Given the description of an element on the screen output the (x, y) to click on. 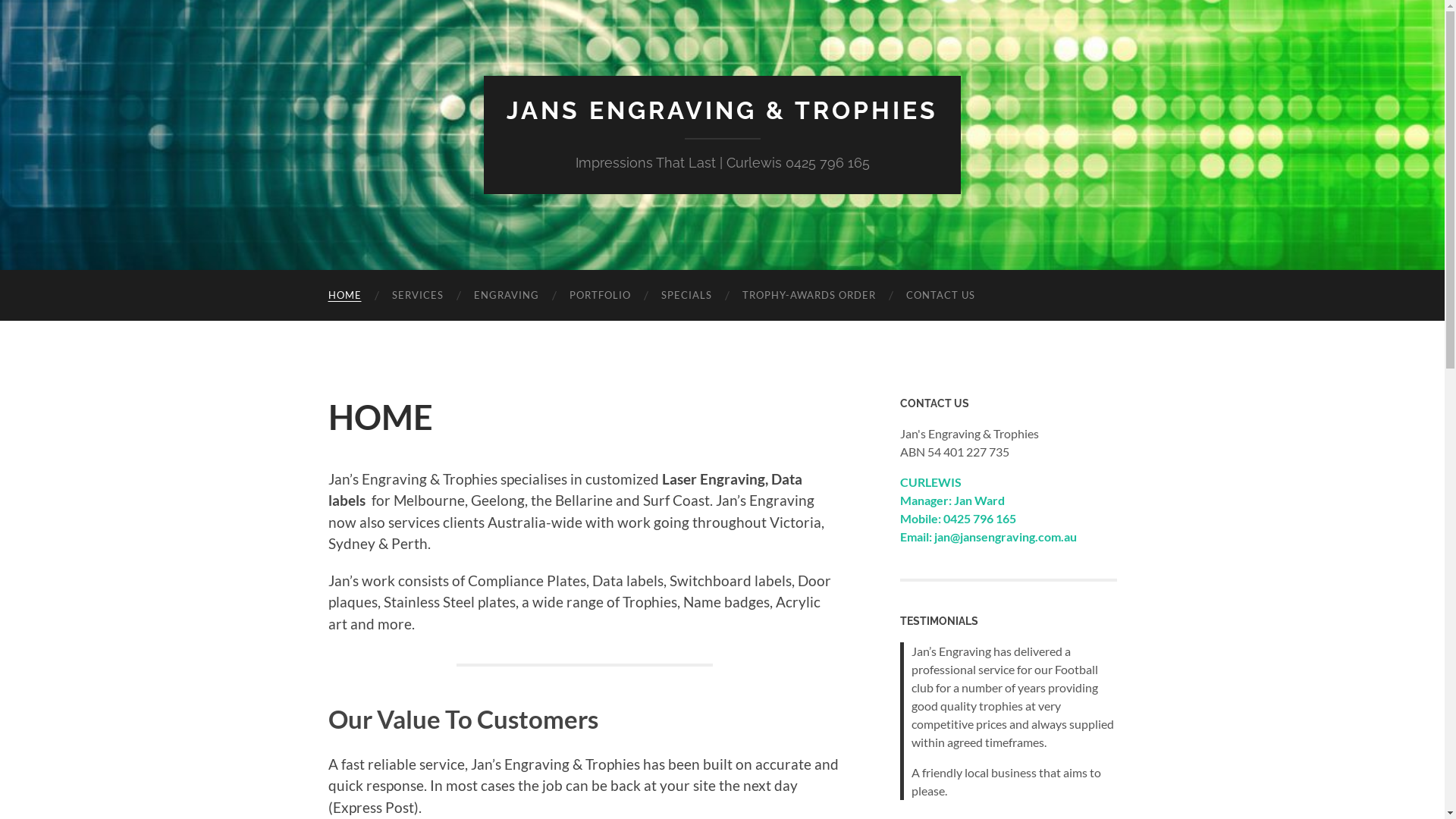
JANS ENGRAVING & TROPHIES Element type: text (722, 110)
ENGRAVING Element type: text (505, 294)
CONTACT US Element type: text (939, 294)
HOME Element type: text (344, 294)
SERVICES Element type: text (417, 294)
Mobile: 0425 796 165 Element type: text (957, 518)
TROPHY-AWARDS ORDER Element type: text (808, 294)
SPECIALS Element type: text (686, 294)
Email: jan@jansengraving.com.au Element type: text (987, 536)
PORTFOLIO Element type: text (599, 294)
